Given the description of an element on the screen output the (x, y) to click on. 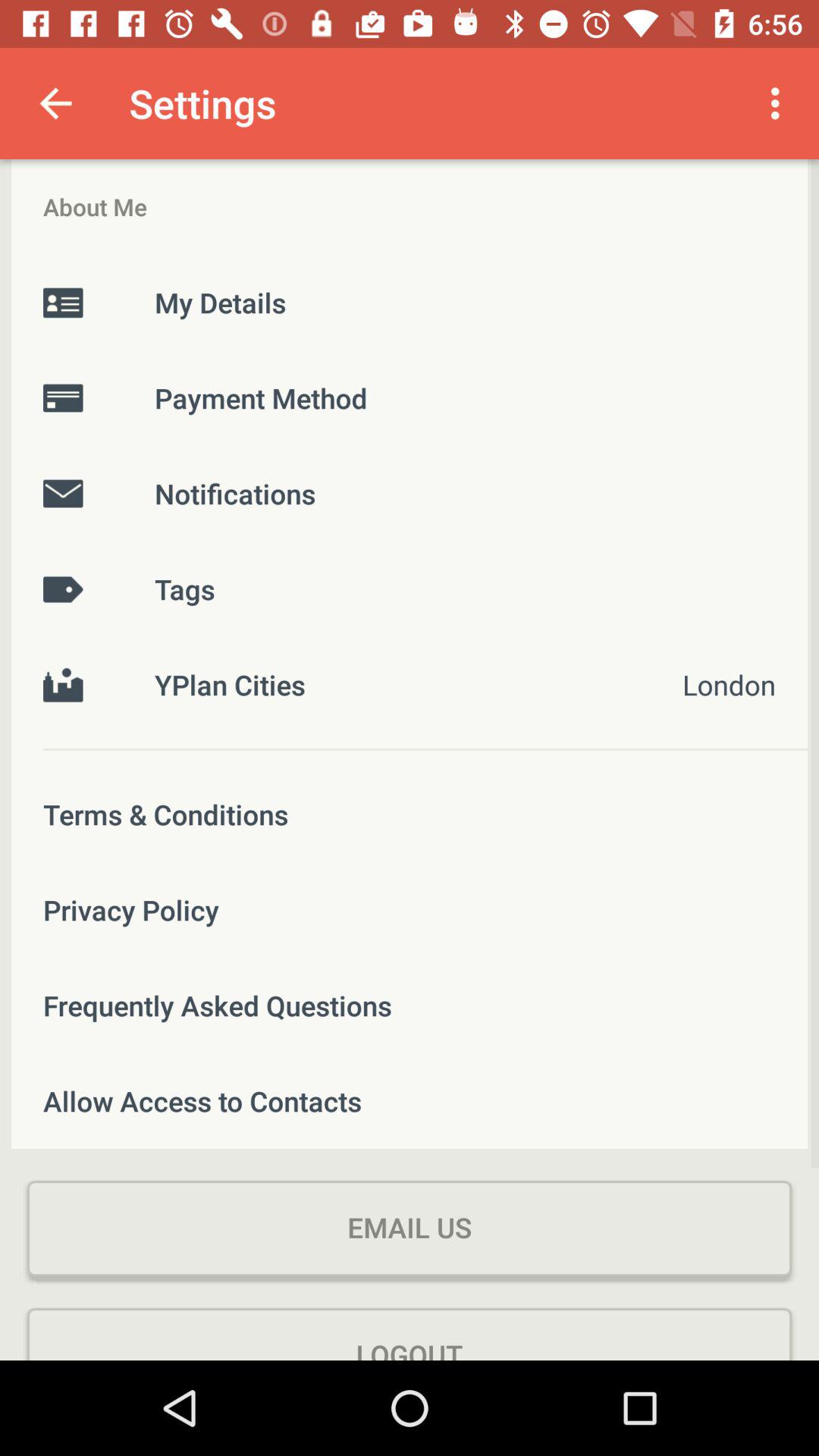
scroll to email us icon (409, 1228)
